Given the description of an element on the screen output the (x, y) to click on. 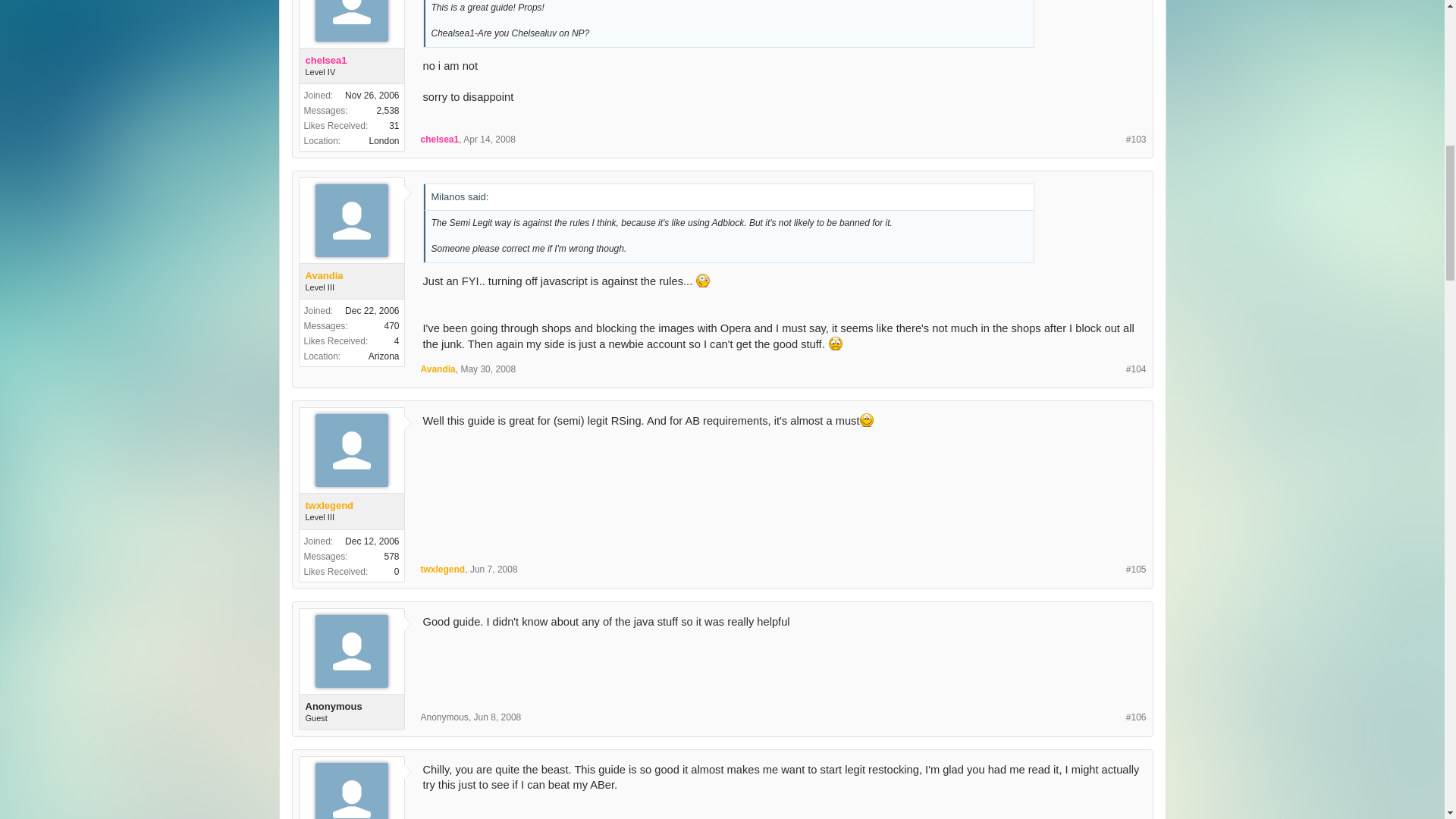
Permalink (1136, 139)
